Given the description of an element on the screen output the (x, y) to click on. 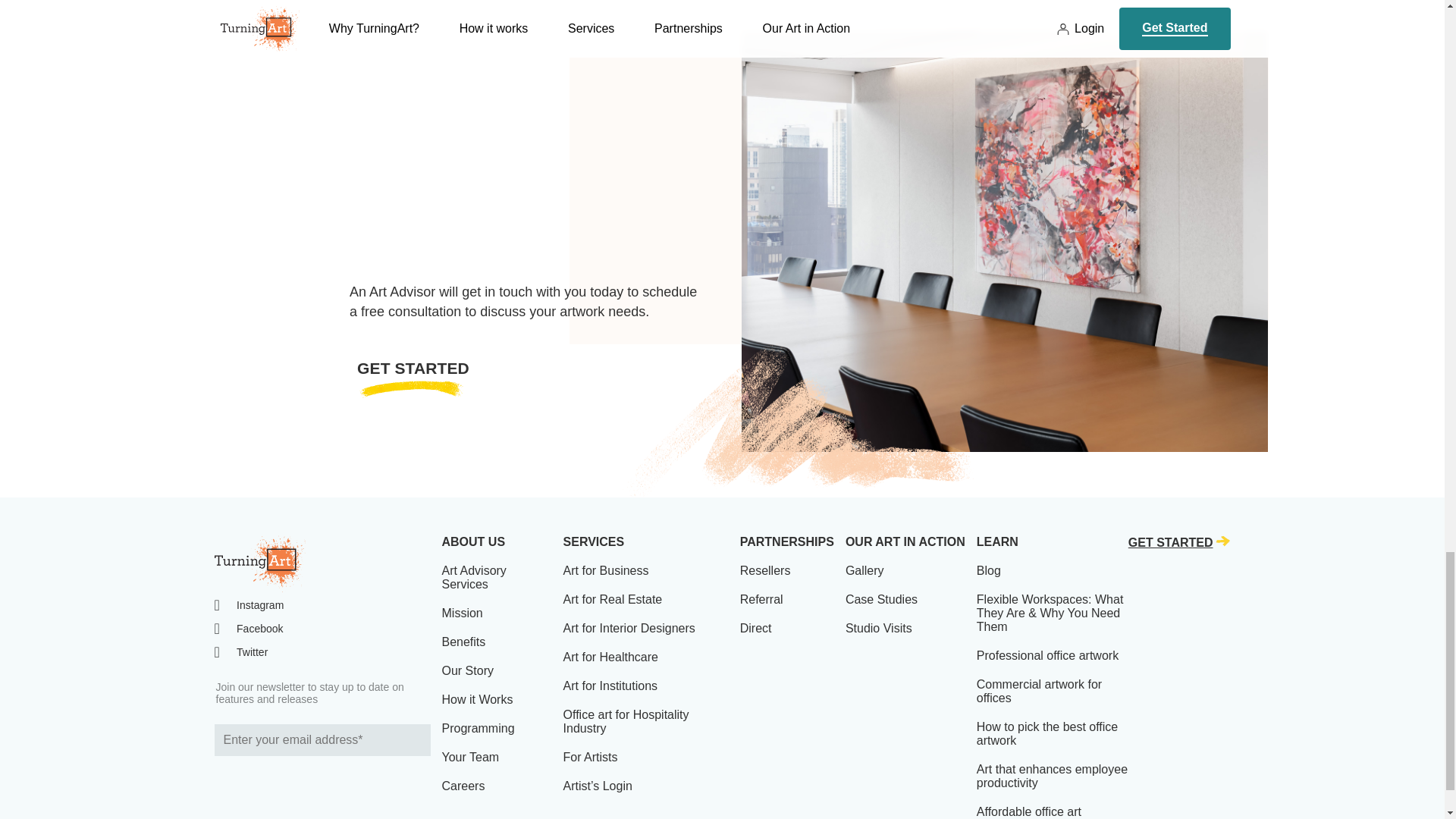
Customer reviews powered by Trustpilot (321, 780)
Submit (415, 739)
